Given the description of an element on the screen output the (x, y) to click on. 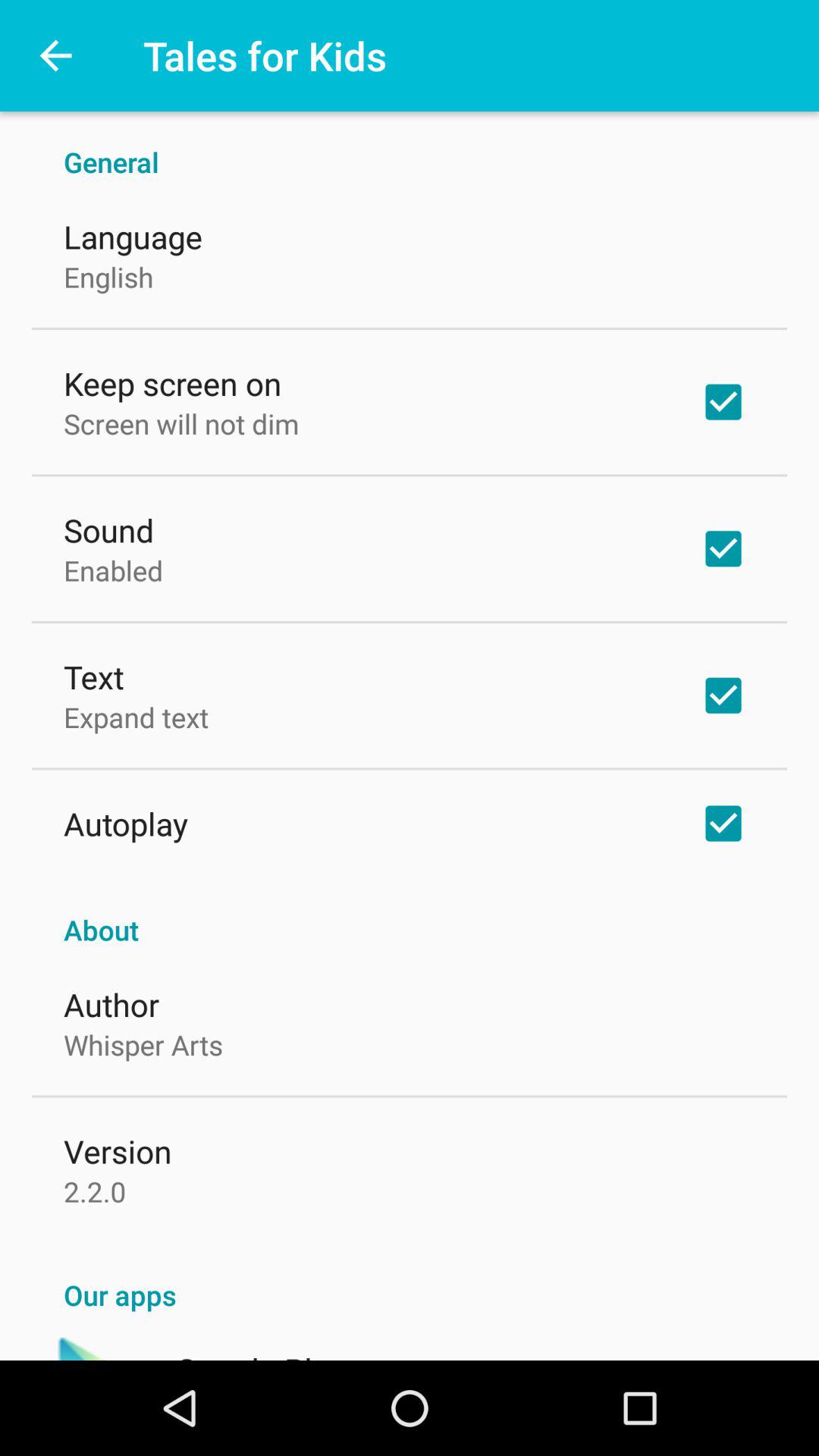
click the item above the enabled icon (108, 529)
